Given the description of an element on the screen output the (x, y) to click on. 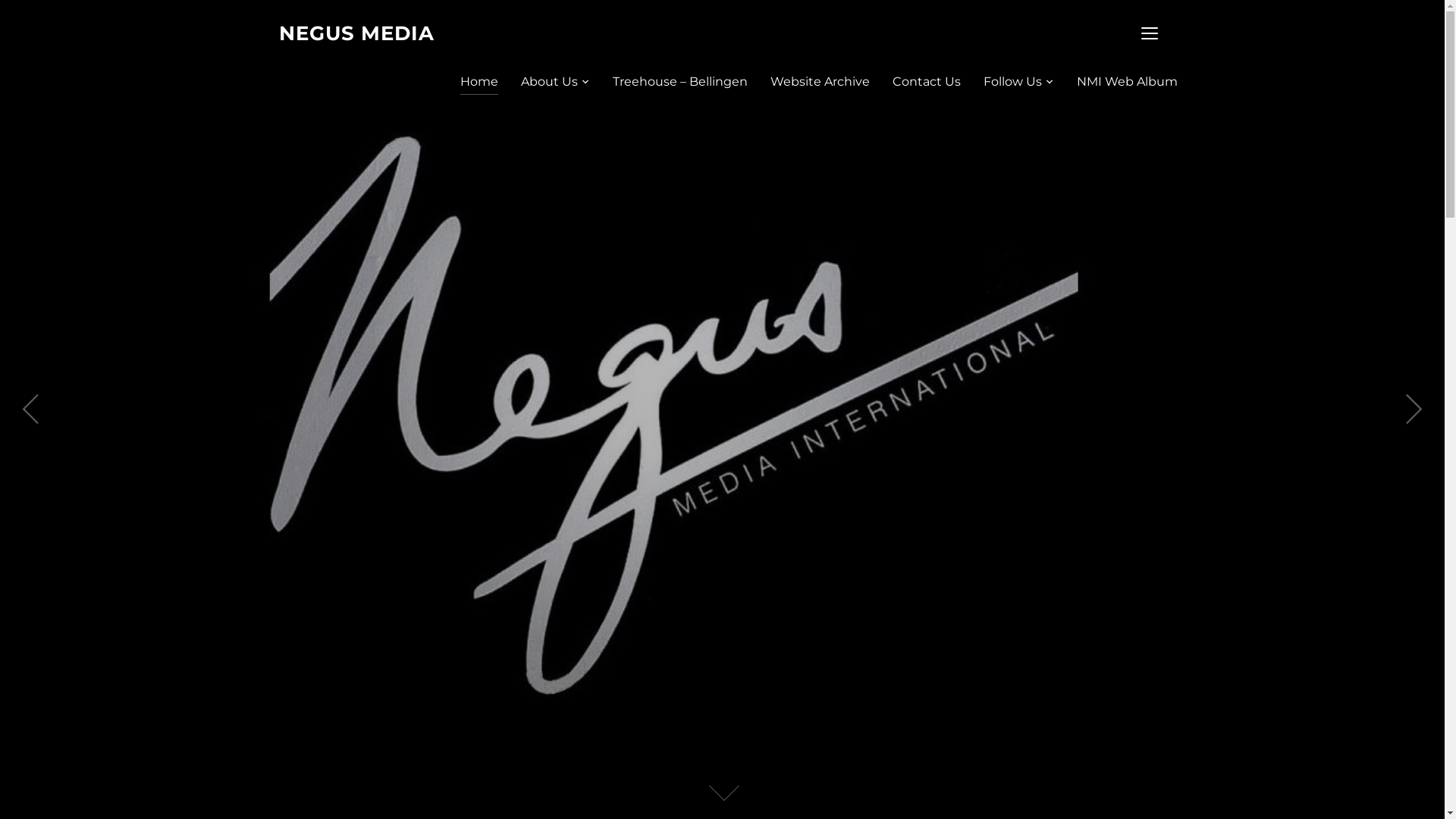
Contact Us Element type: text (925, 80)
NMI Web Album Element type: text (1126, 80)
NEGUS MEDIA Element type: text (356, 33)
Website Archive Element type: text (819, 80)
Follow Us Element type: text (1017, 80)
Home Element type: text (478, 80)
Previous Element type: text (29, 409)
Next Element type: text (1413, 409)
TOGGLE SIDEBAR & NAVIGATION Element type: text (1149, 32)
About Us Element type: text (554, 80)
